Given the description of an element on the screen output the (x, y) to click on. 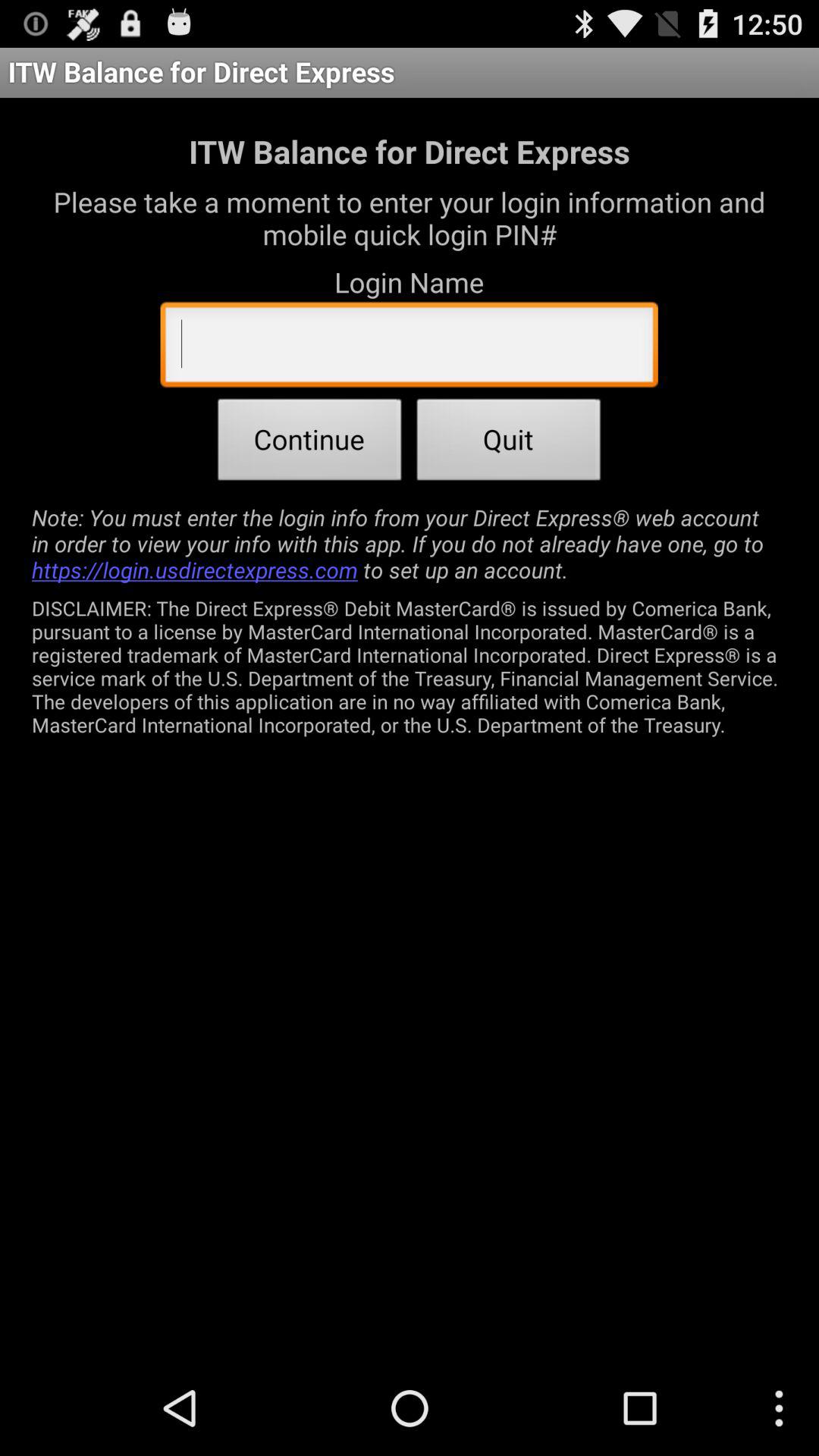
launch item to the left of quit icon (309, 443)
